Given the description of an element on the screen output the (x, y) to click on. 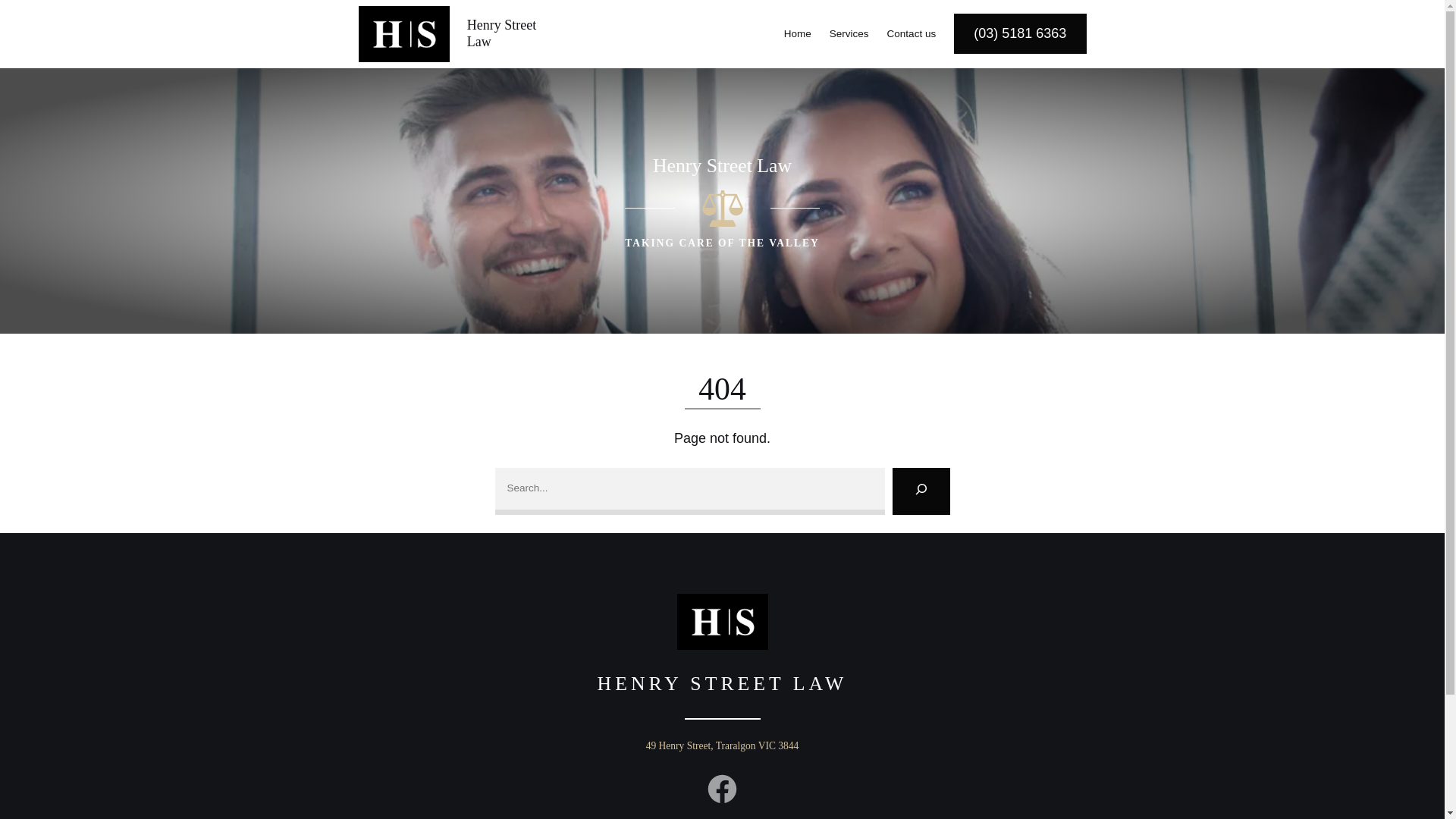
Henry Street Law Element type: text (721, 165)
(03) 5181 6363 Element type: text (1019, 33)
Home Element type: text (797, 33)
Contact us Element type: text (911, 33)
Services Element type: text (849, 33)
Facebook Element type: text (722, 788)
49 Henry Street, Traralgon VIC 3844 Element type: text (722, 745)
Henry Street Law Element type: text (501, 33)
